Given the description of an element on the screen output the (x, y) to click on. 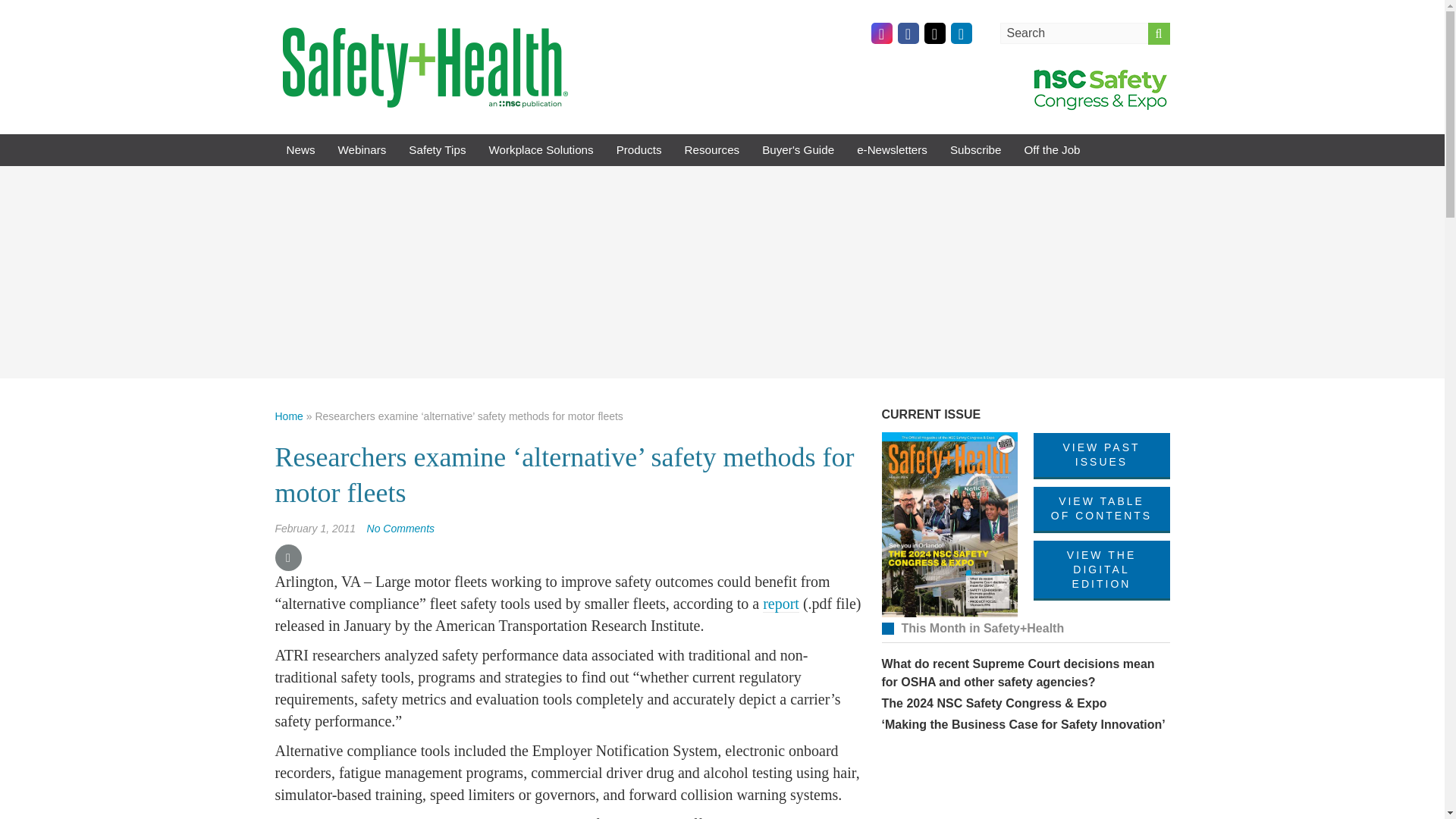
News (300, 150)
Webinars (361, 150)
Safety Tips (437, 150)
